Given the description of an element on the screen output the (x, y) to click on. 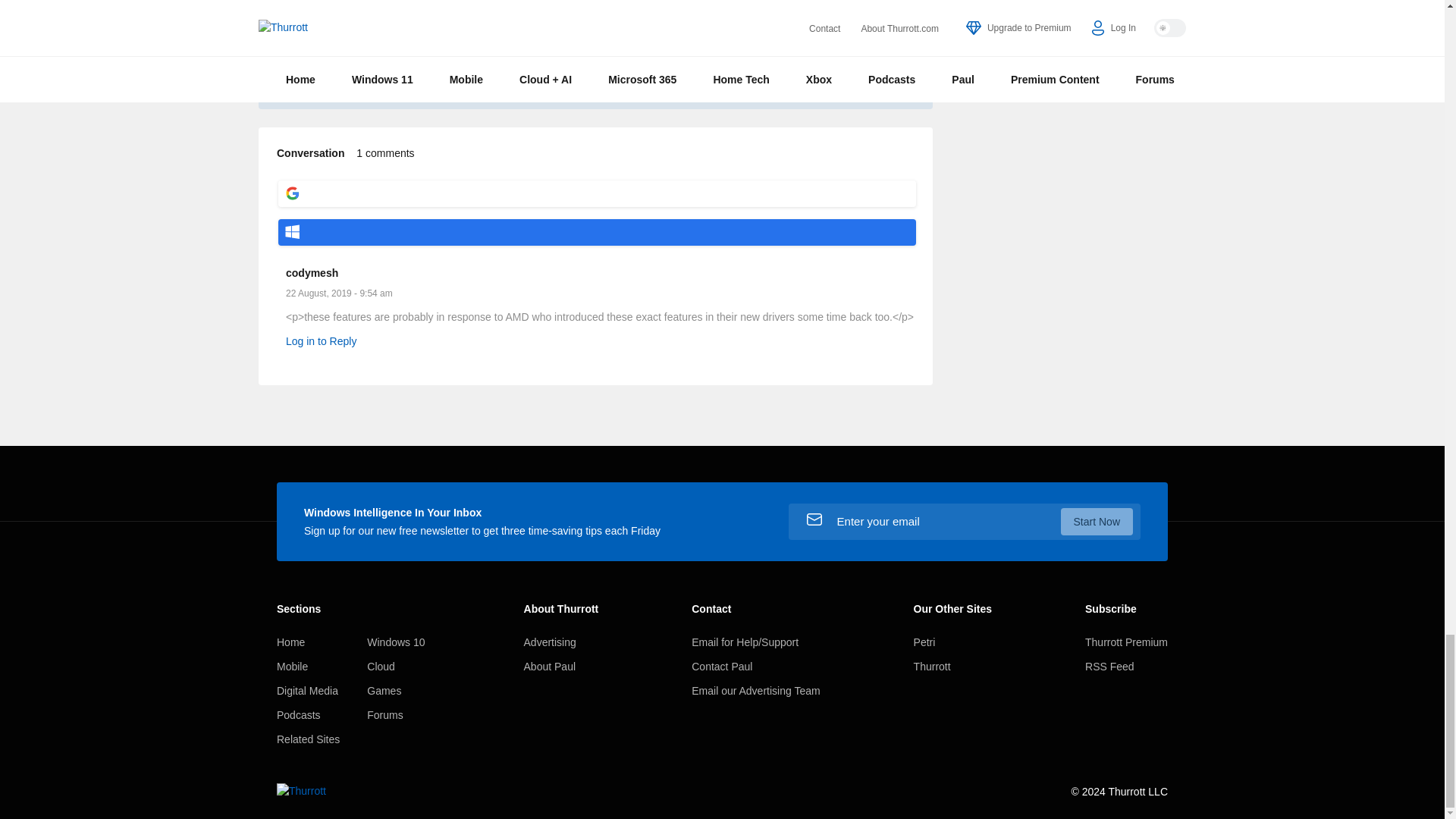
Login with Google (596, 193)
Start Now (1096, 521)
Login with Microsoft (596, 232)
